Given the description of an element on the screen output the (x, y) to click on. 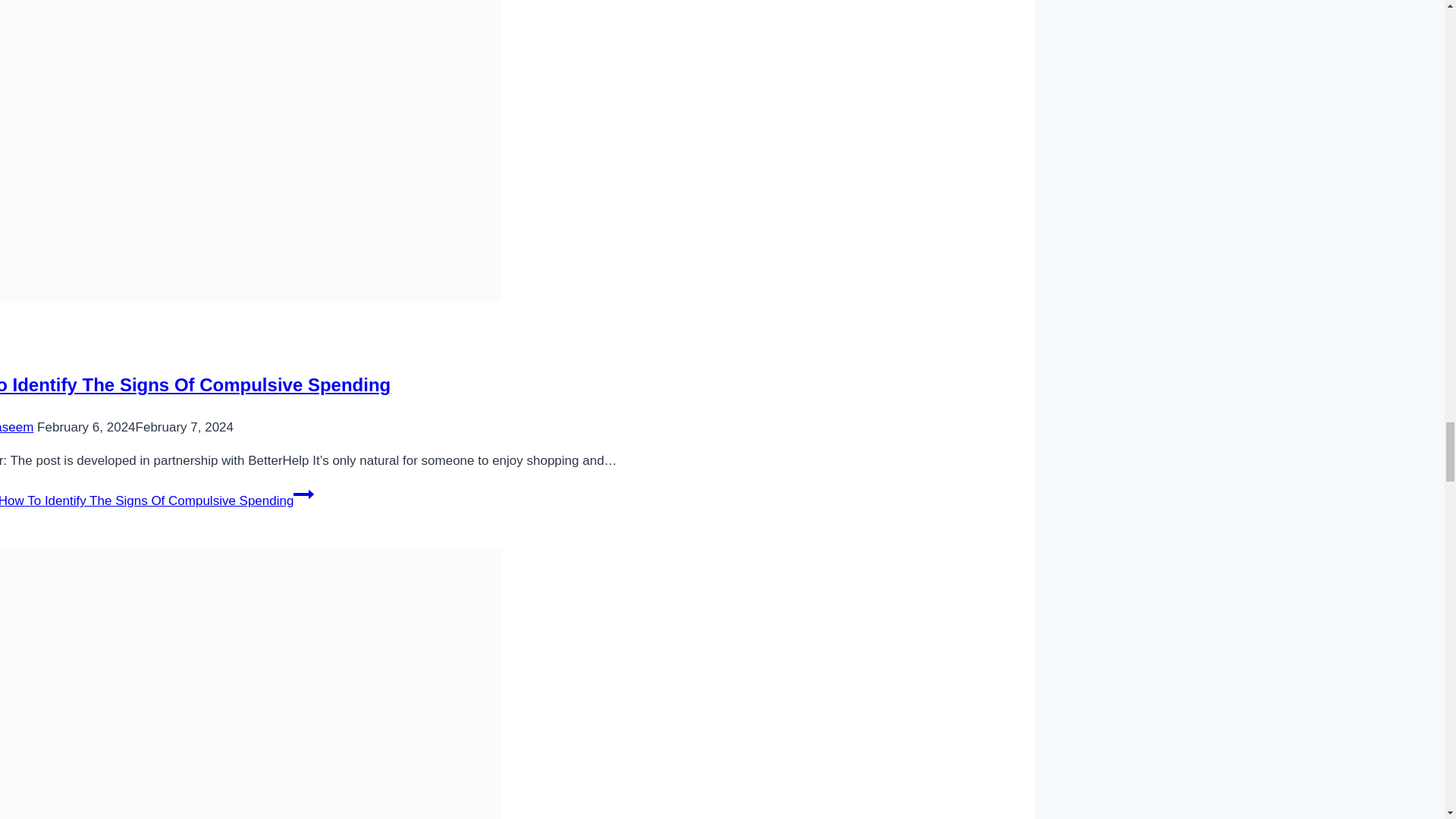
Continue (304, 494)
